Given the description of an element on the screen output the (x, y) to click on. 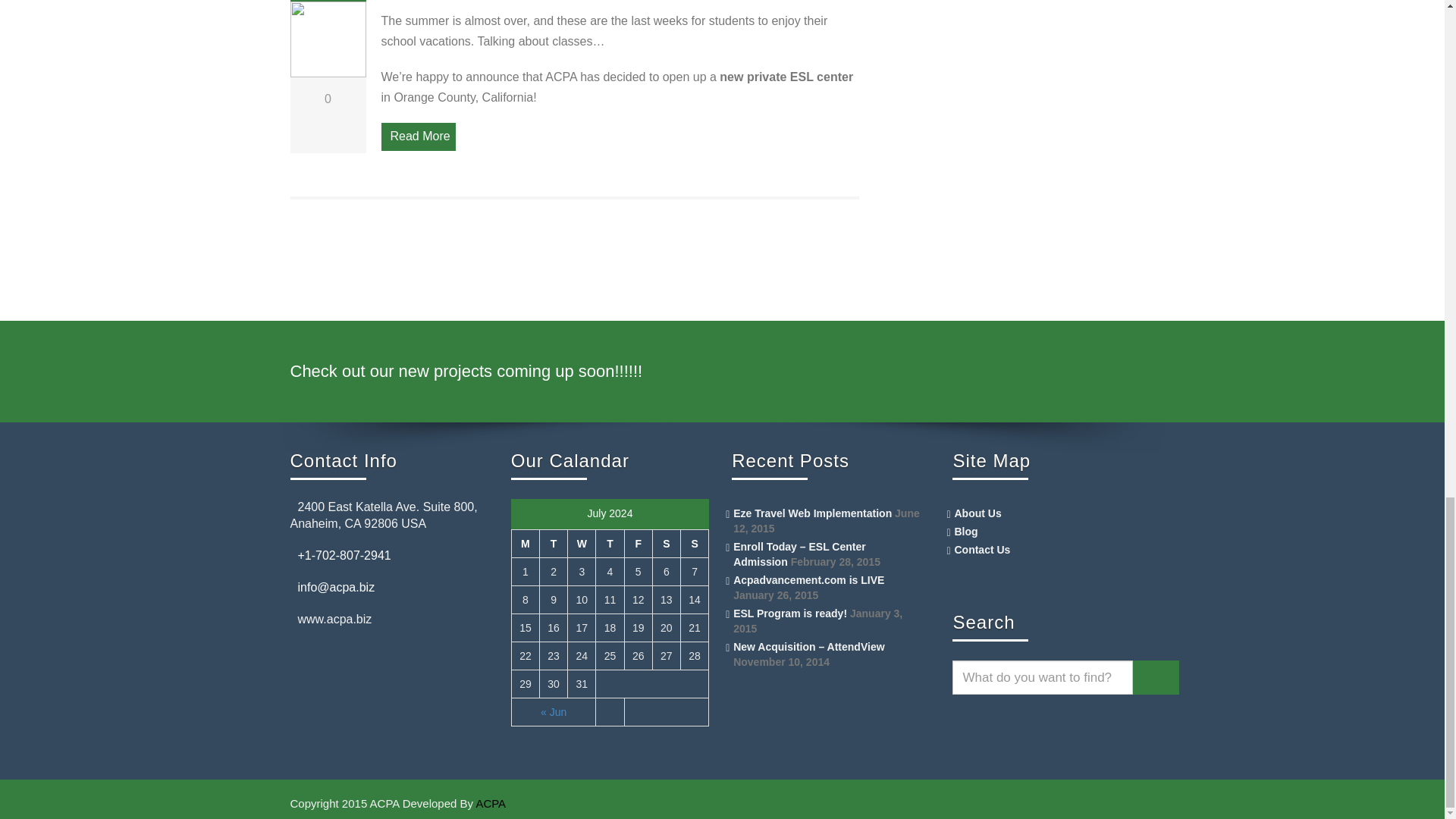
Read More (417, 136)
